Given the description of an element on the screen output the (x, y) to click on. 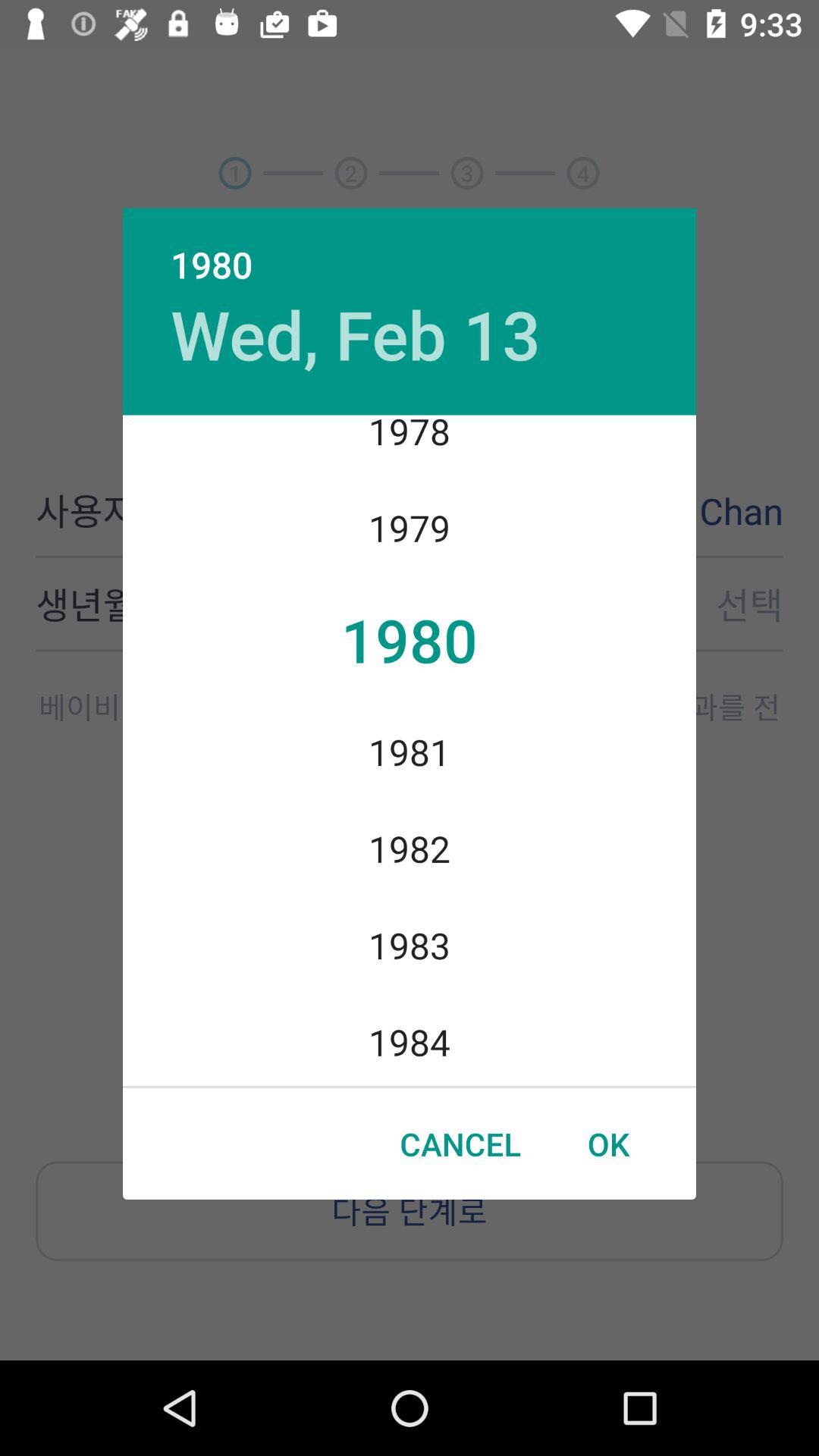
open the ok item (608, 1143)
